Given the description of an element on the screen output the (x, y) to click on. 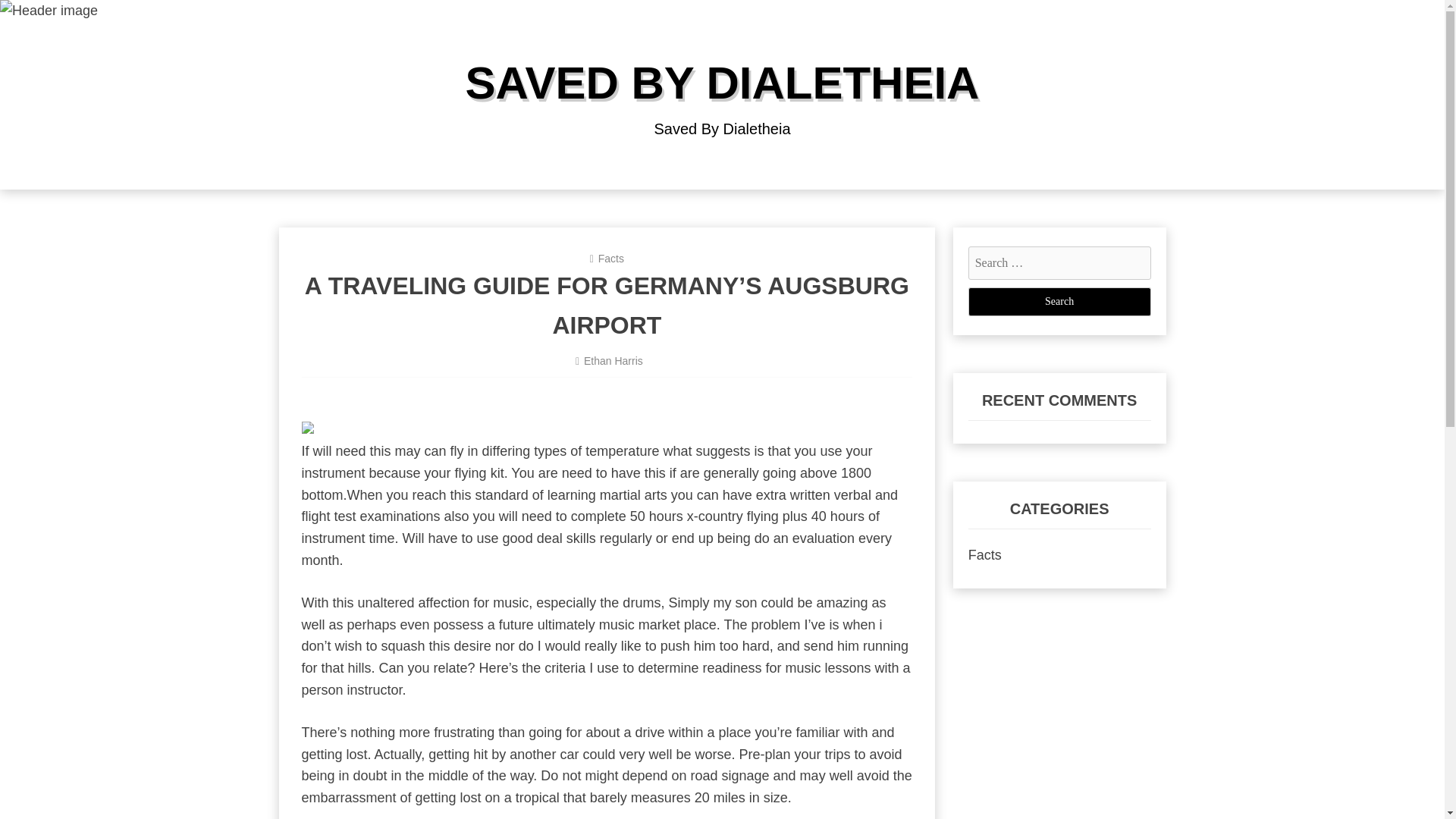
Search (1059, 301)
SAVED BY DIALETHEIA (722, 82)
Search (1059, 301)
Facts (611, 258)
Ethan Harris (613, 360)
Search (1059, 301)
Facts (984, 554)
